Given the description of an element on the screen output the (x, y) to click on. 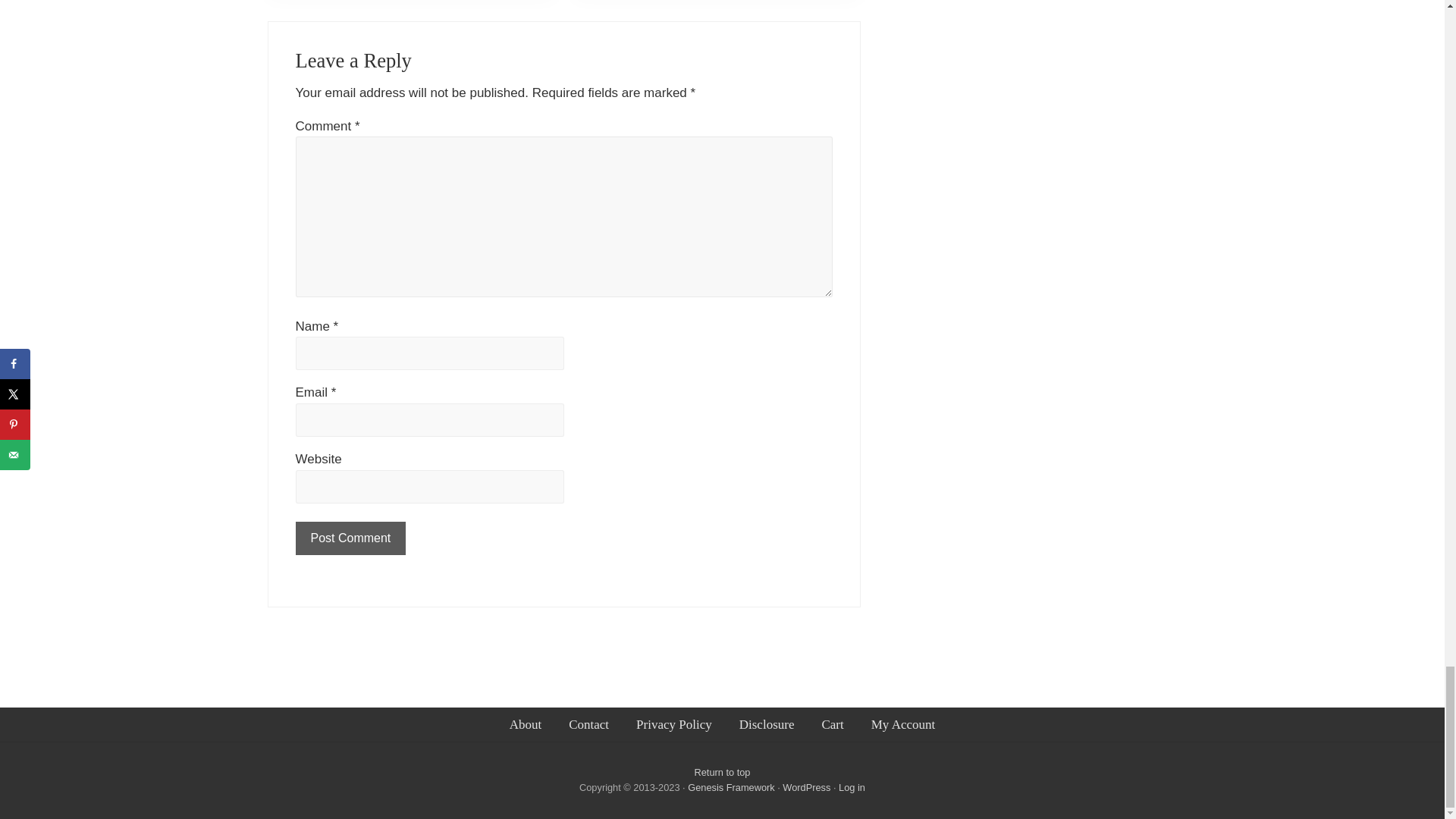
WordPress (806, 787)
Genesis Framework (732, 787)
Post Comment (350, 538)
